Given the description of an element on the screen output the (x, y) to click on. 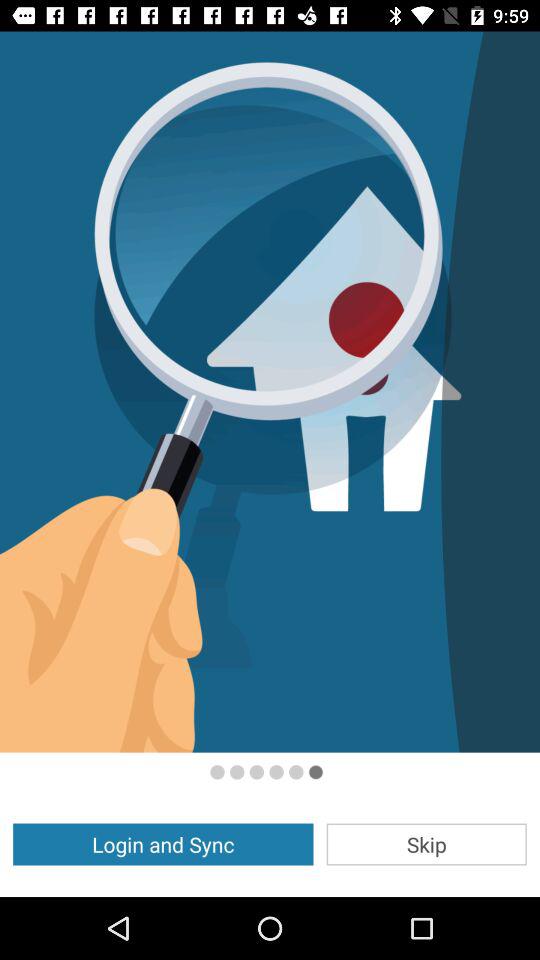
choose the skip item (426, 844)
